Given the description of an element on the screen output the (x, y) to click on. 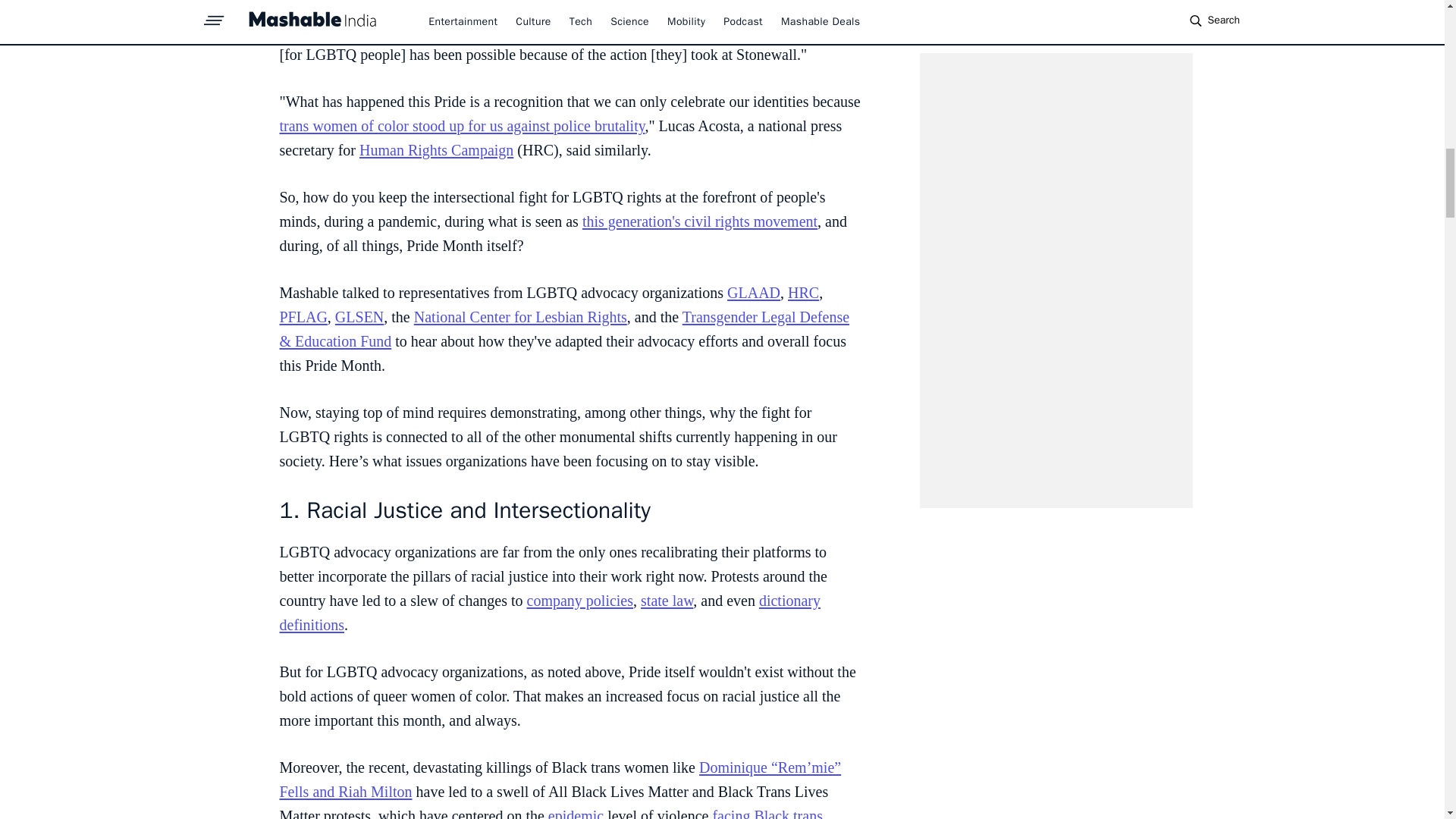
PFLAG (302, 316)
GLSEN (359, 316)
HRC (802, 292)
GLAAD (753, 292)
queer people of color (566, 19)
this generation's civil rights movement (699, 221)
Human Rights Campaign (436, 149)
National Center for Lesbian Rights (520, 316)
GLAAD (648, 30)
